Given the description of an element on the screen output the (x, y) to click on. 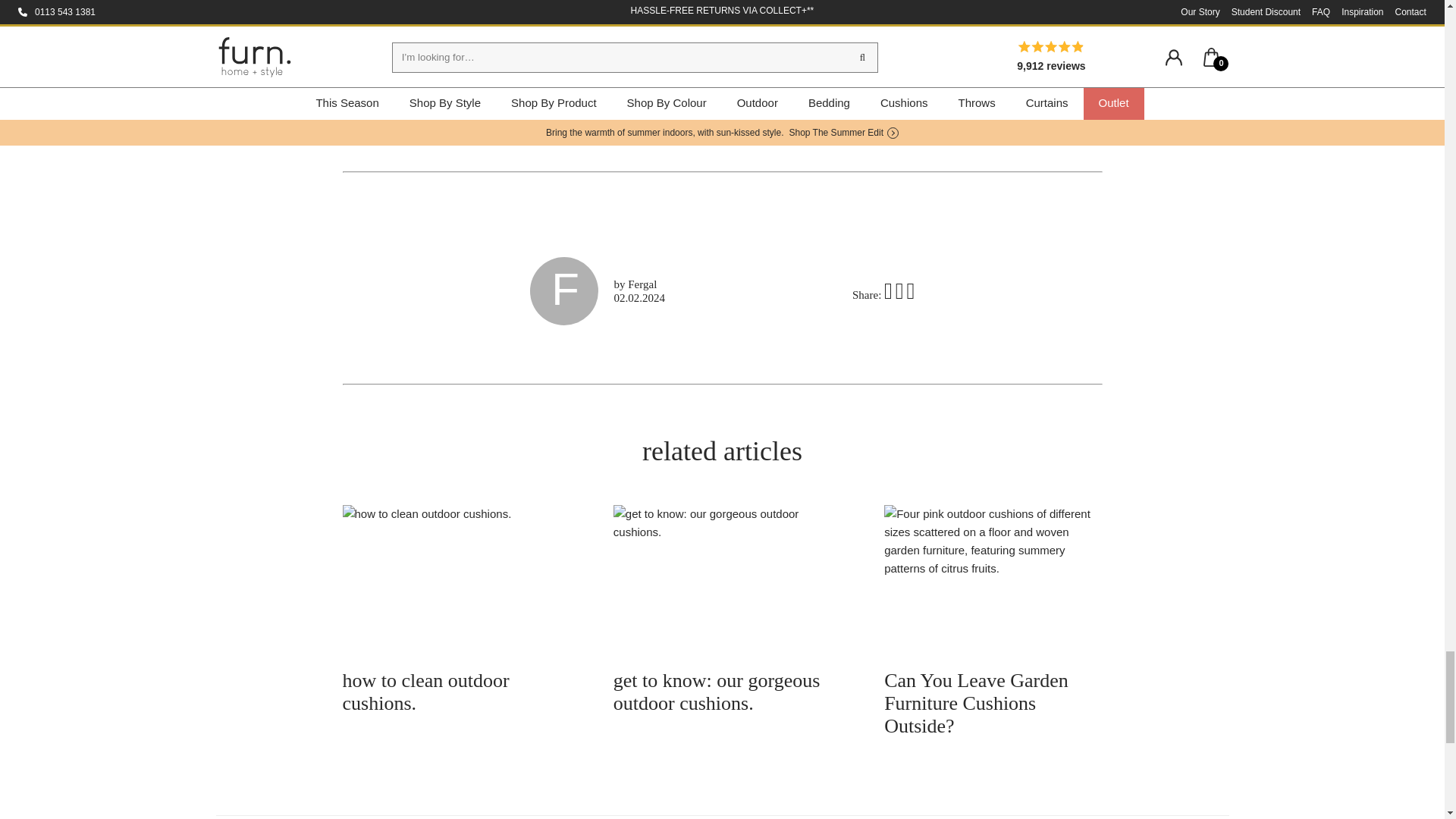
Leopard Outdoor Cushion Gold (418, 53)
Leopard Outdoor Cushion Gold (418, 116)
Hawaii Outdoor Cushion Forest Green (769, 116)
Minton Tiles Outdoor Cushion Saffron (593, 116)
Midnight Garden Birds Outdoor Cushion Aqua (946, 53)
Minton Tiles Outdoor Cushion Saffron (593, 53)
Hawaii Outdoor Cushion Forest Green (769, 53)
Minton Tiles Outdoor Cushion Saffron (593, 18)
Hawaii Outdoor Cushion Forest Green (769, 18)
Leopard Outdoor Cushion Gold (418, 18)
Midnight Garden Birds Outdoor Cushion Aqua (946, 18)
